Given the description of an element on the screen output the (x, y) to click on. 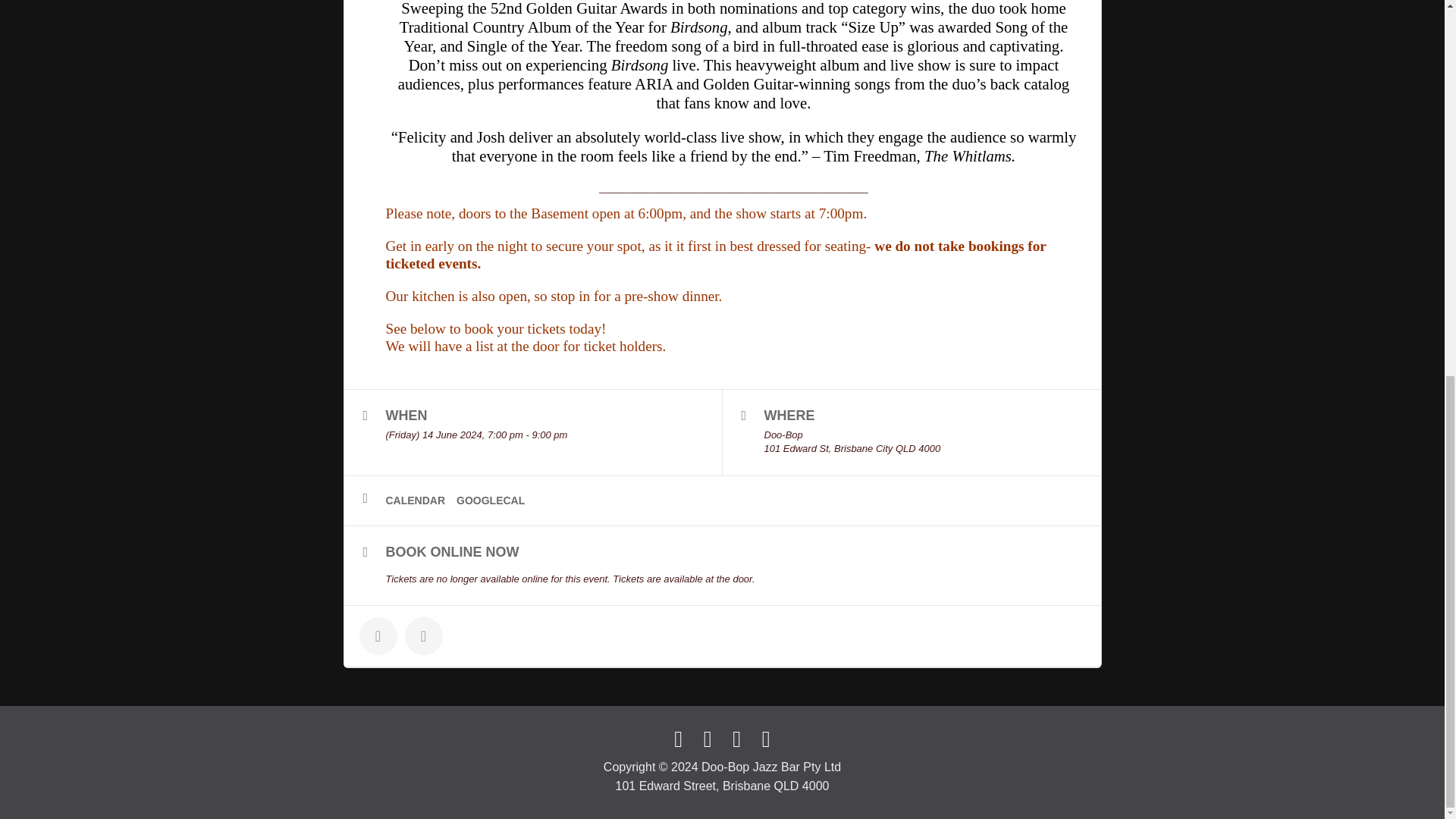
Add to google calendar (496, 499)
Google (765, 738)
YouTube (736, 738)
Facebook (678, 738)
CALENDAR (421, 499)
Instagram (707, 738)
GOOGLECAL (496, 499)
Add to your calendar (421, 499)
